Given the description of an element on the screen output the (x, y) to click on. 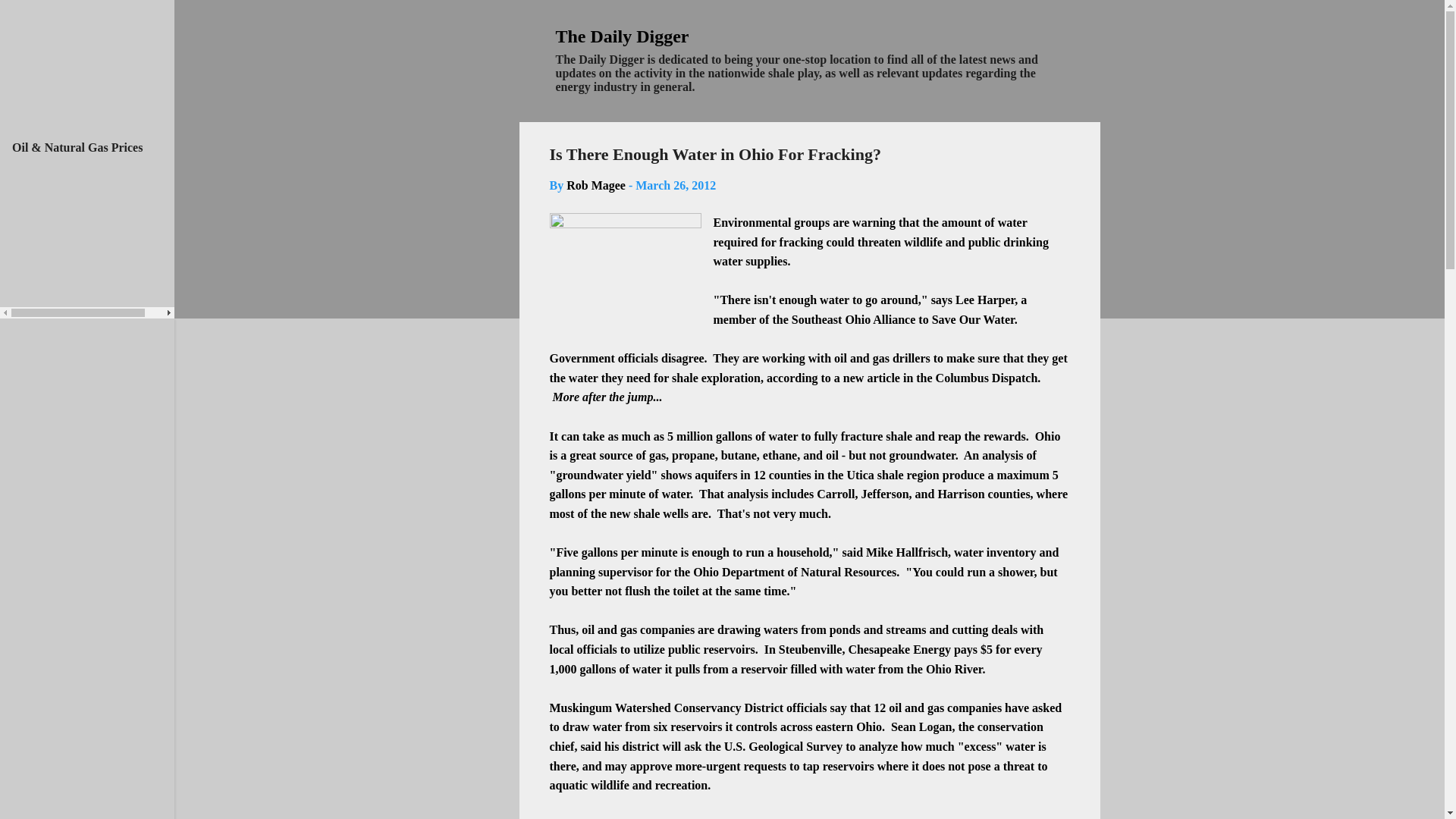
Rob Magee (596, 185)
March 26, 2012 (675, 185)
a new article in the Columbus Dispatch (935, 377)
The Daily Digger (621, 35)
Search (31, 18)
author profile (596, 185)
permanent link (675, 185)
